Given the description of an element on the screen output the (x, y) to click on. 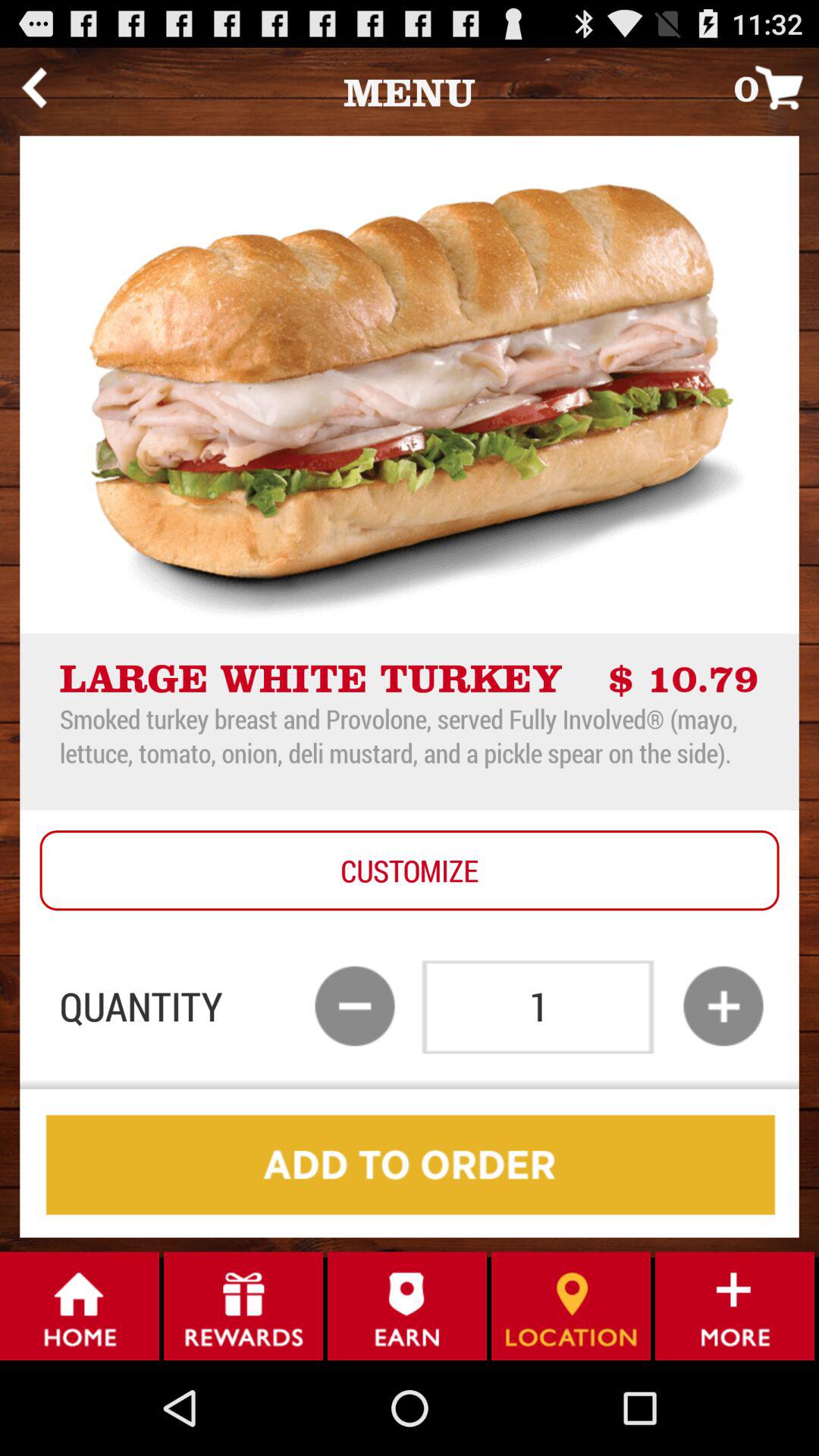
tap the app at the top left corner (33, 87)
